Given the description of an element on the screen output the (x, y) to click on. 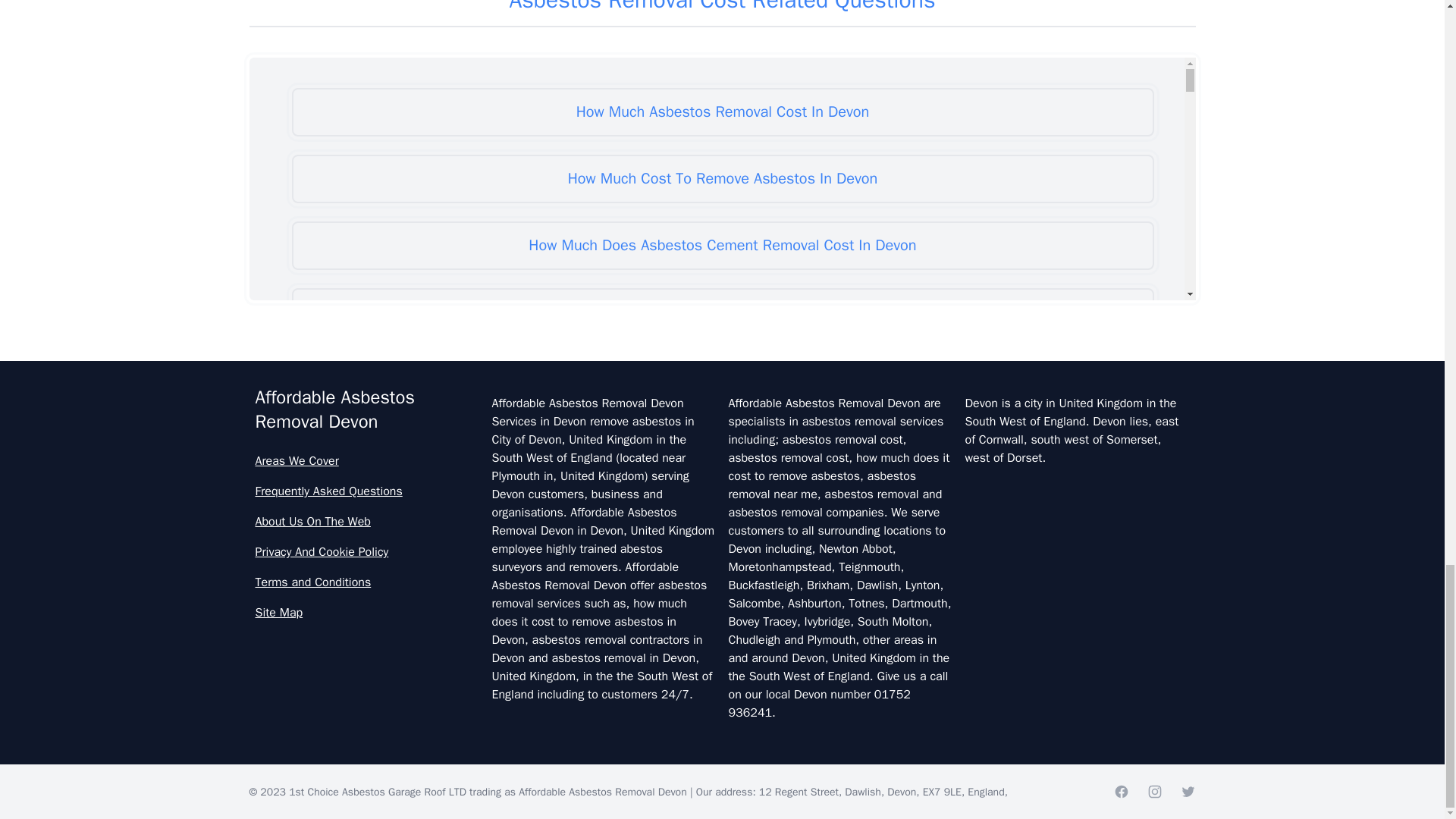
How Much Does It Cost To Have Asbestos Removed Uk In Devon (722, 712)
How Much Does It Cost To Have Asbestos Removed In Devon (722, 645)
Site Map (366, 612)
How Much Cost To Remove Asbestos In Devon (722, 178)
How Much Does Asbestos Tile Removal Cost In Devon (722, 445)
How Much Does Asbestos Popcorn Ceiling Removal Cost In Devon (722, 312)
How Much Asbestos Removal Cost In Devon (722, 111)
How Much Does Asbestos Removal Cost In Devon (722, 378)
